Given the description of an element on the screen output the (x, y) to click on. 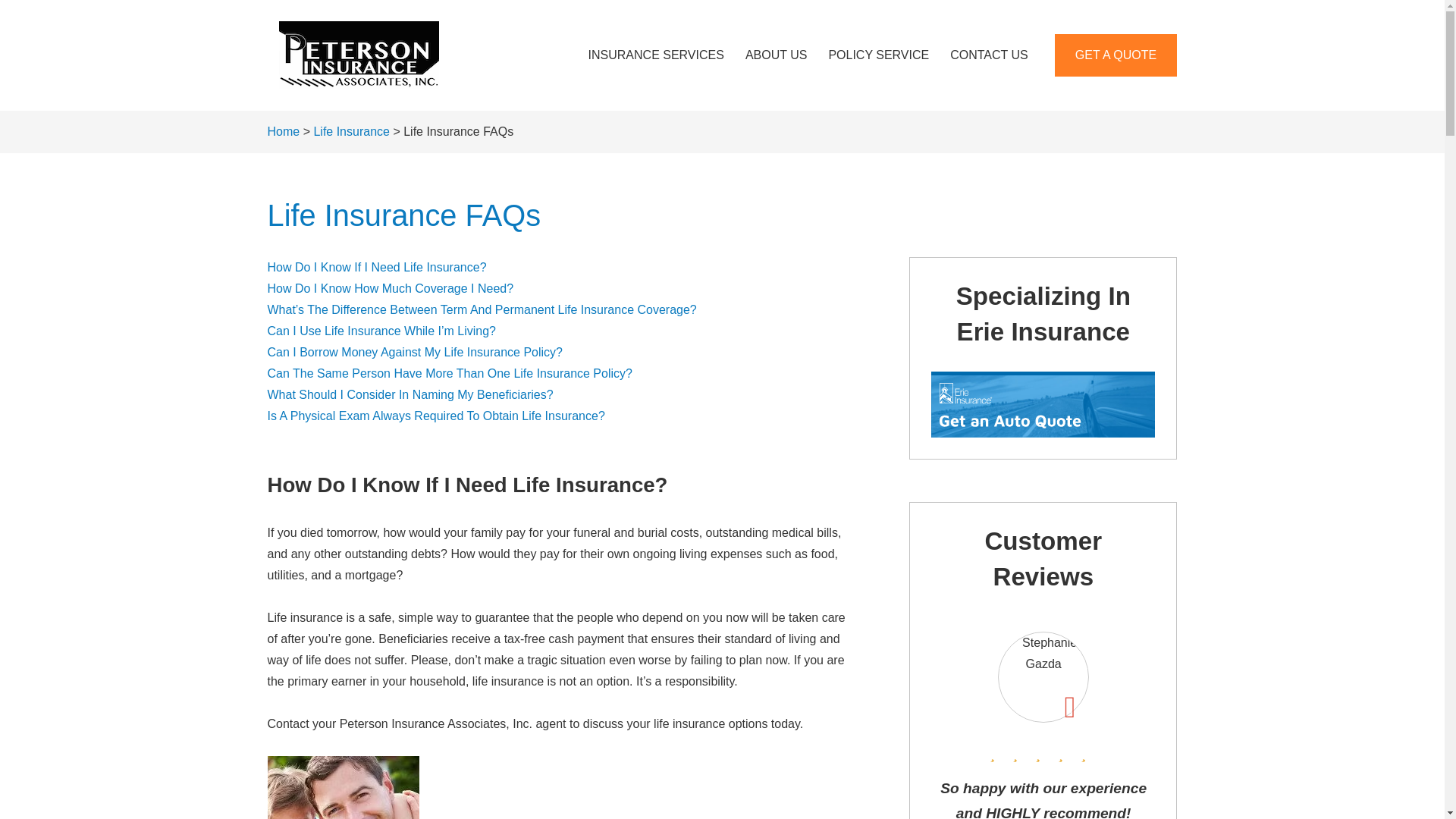
CONTACT US (989, 55)
ABOUT US (776, 55)
INSURANCE SERVICES (656, 55)
Peterson Insurance Associates (357, 55)
ERIE Auto Insurance Quote (1033, 406)
POLICY SERVICE (877, 55)
